Given the description of an element on the screen output the (x, y) to click on. 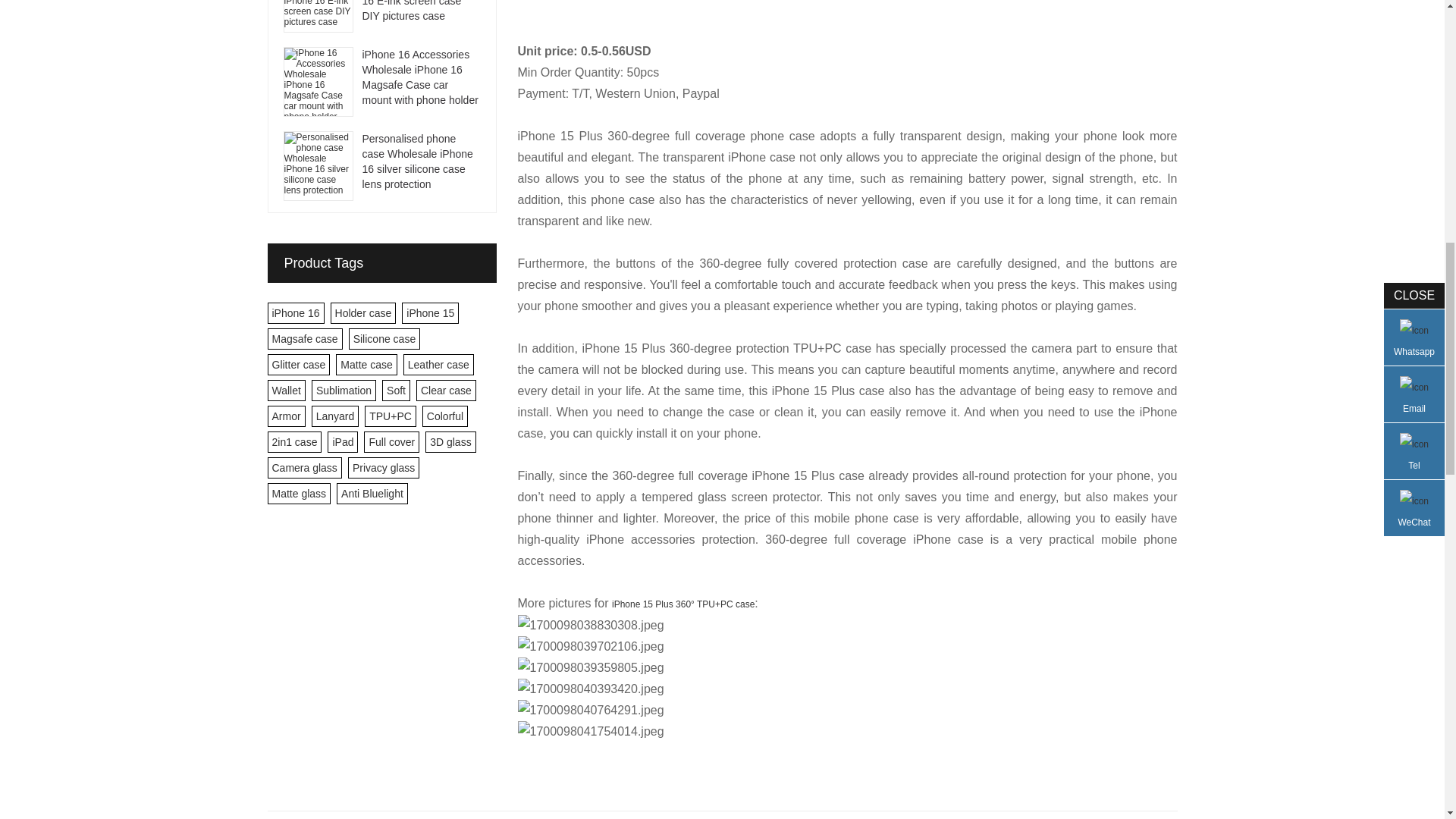
1700098041754014.jpeg (589, 731)
1700098039702106.jpeg (589, 646)
1700098038830308.jpeg (589, 625)
1700098040764291.jpeg (589, 710)
1700098039359805.jpeg (589, 667)
1700098040393420.jpeg (589, 689)
